Given the description of an element on the screen output the (x, y) to click on. 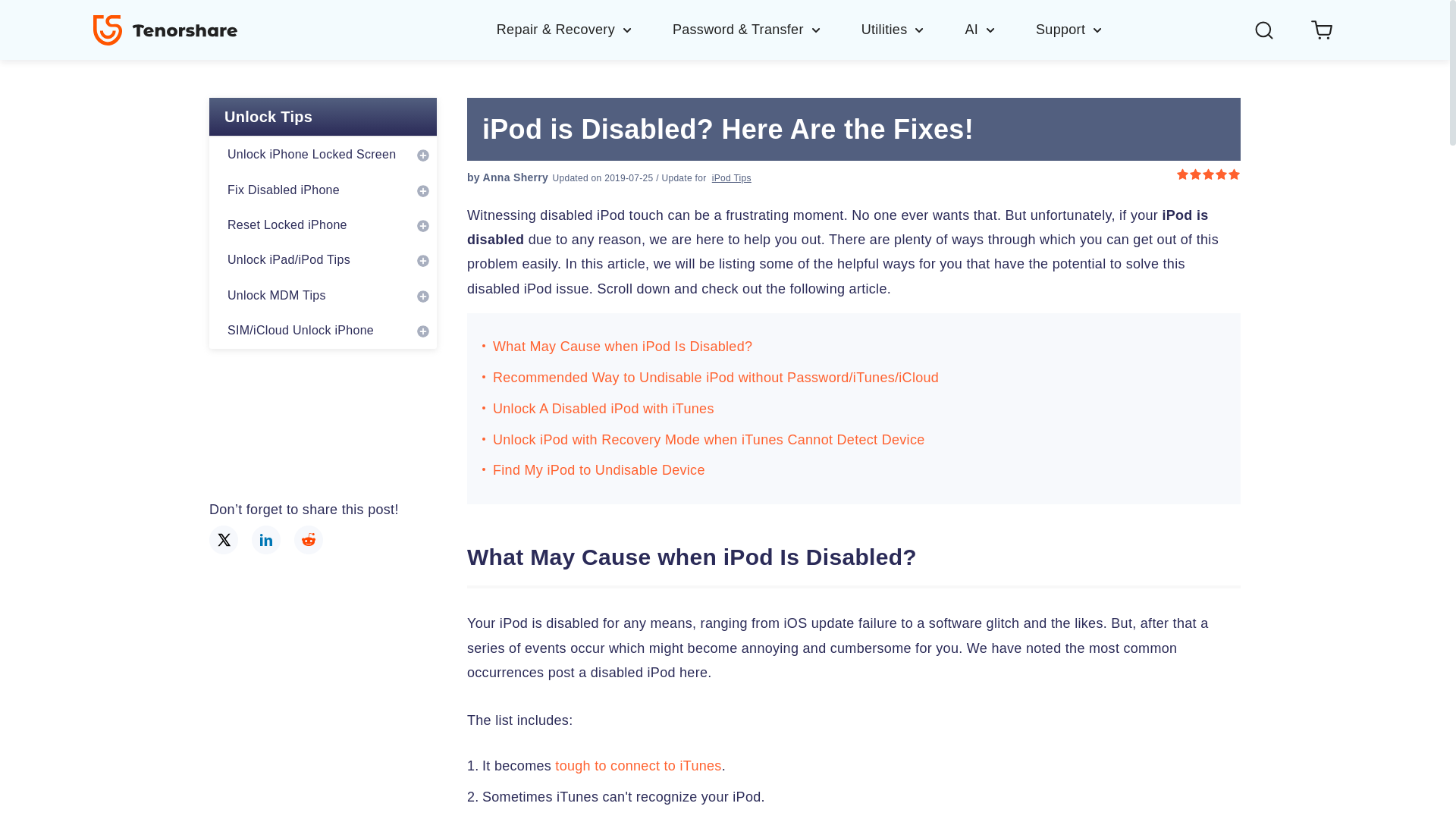
Utilities (913, 29)
Support (1069, 29)
AI (999, 29)
